Given the description of an element on the screen output the (x, y) to click on. 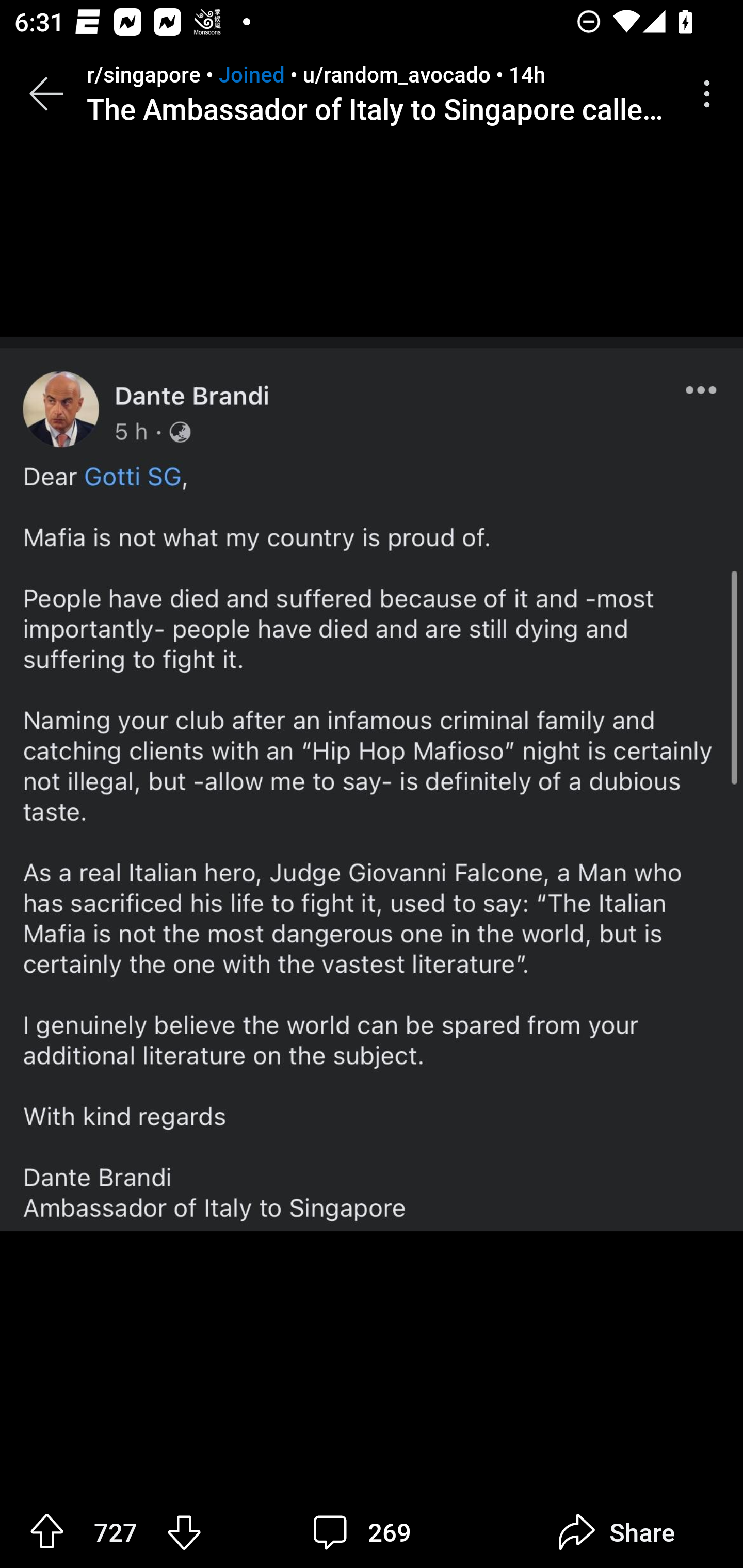
Back (46, 93)
More options (710, 93)
269 comments 269 (367, 1531)
Share (616, 1531)
Upvote (46, 1531)
Downvote (184, 1531)
